Given the description of an element on the screen output the (x, y) to click on. 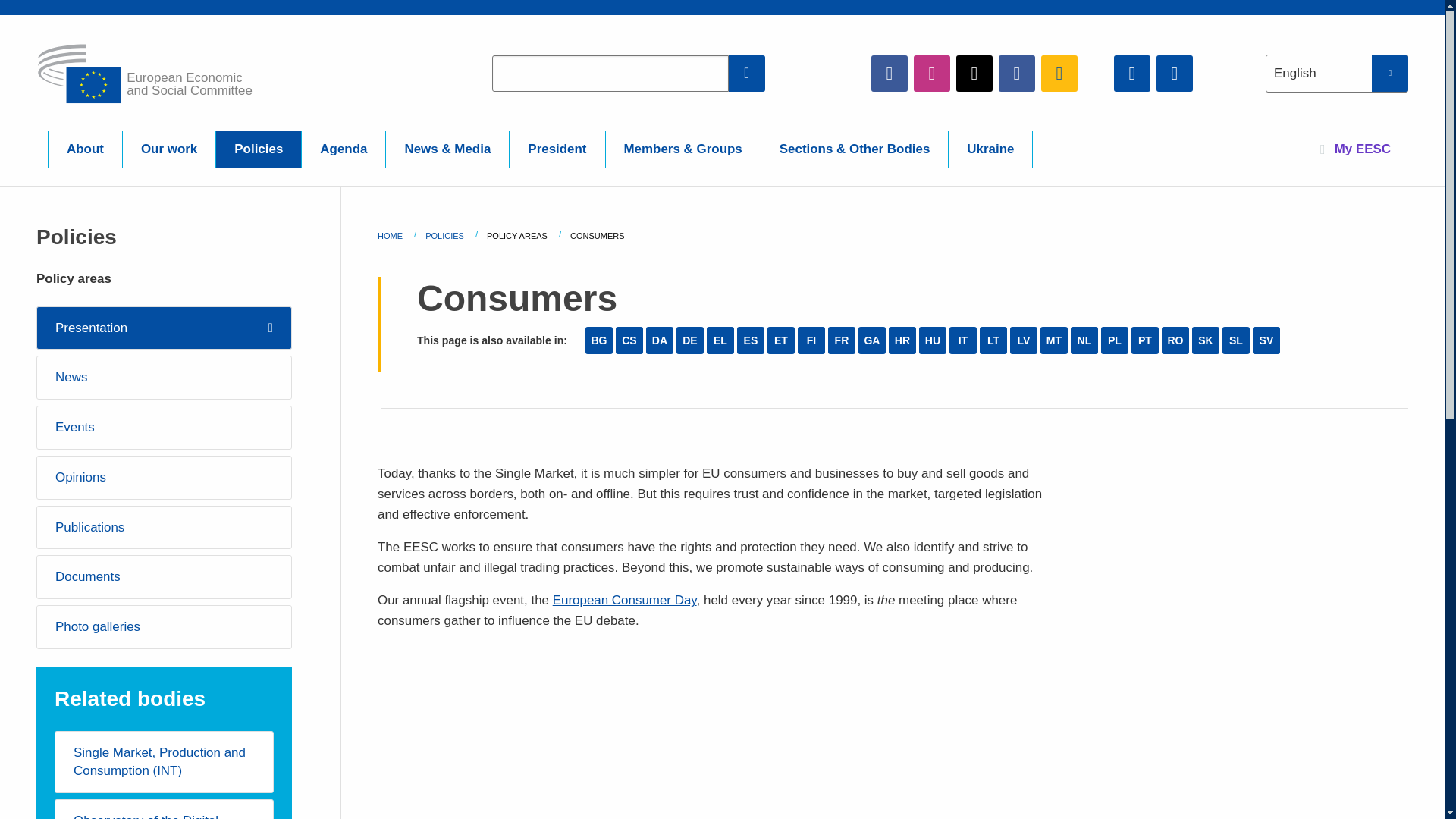
My EESC (1355, 149)
Search EESC Website (747, 72)
